Given the description of an element on the screen output the (x, y) to click on. 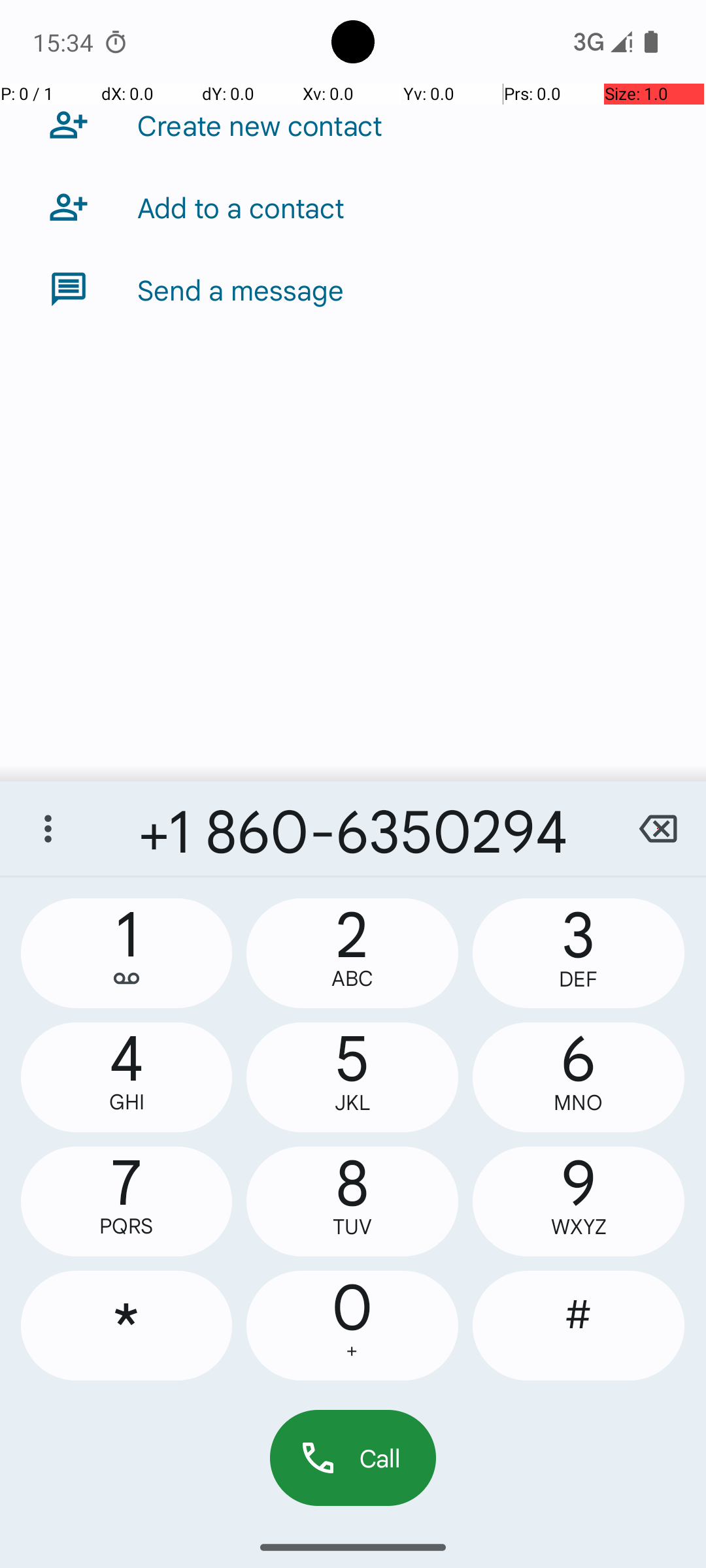
+1 860-6350294 Element type: android.widget.EditText (352, 828)
